Given the description of an element on the screen output the (x, y) to click on. 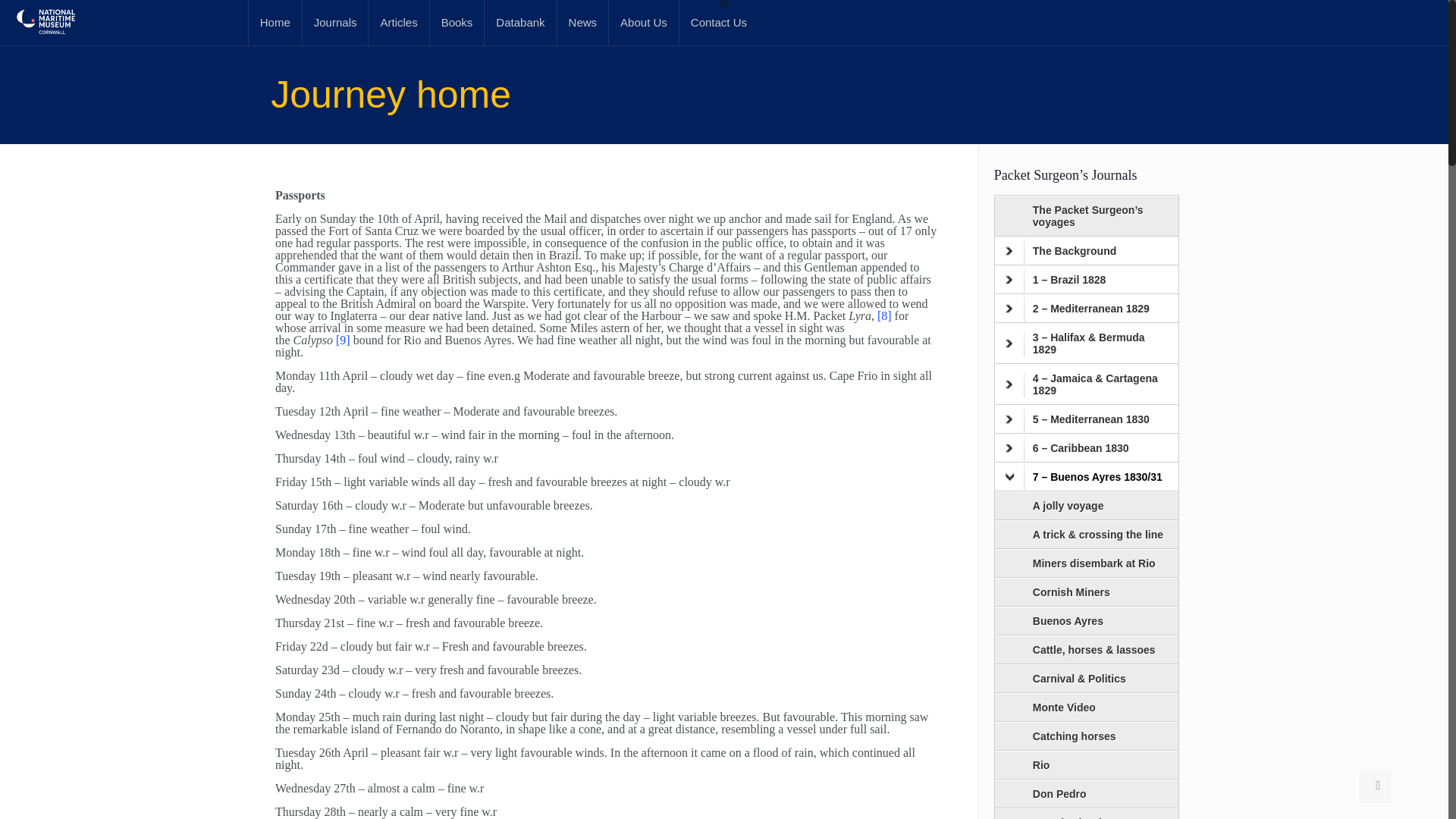
Articles (398, 22)
Databank (520, 22)
Latest News (583, 22)
Contact Us (718, 22)
Home (274, 22)
Home (274, 22)
Journals (335, 22)
Contact Us (718, 22)
About Us (643, 22)
News (583, 22)
Books (456, 22)
